Given the description of an element on the screen output the (x, y) to click on. 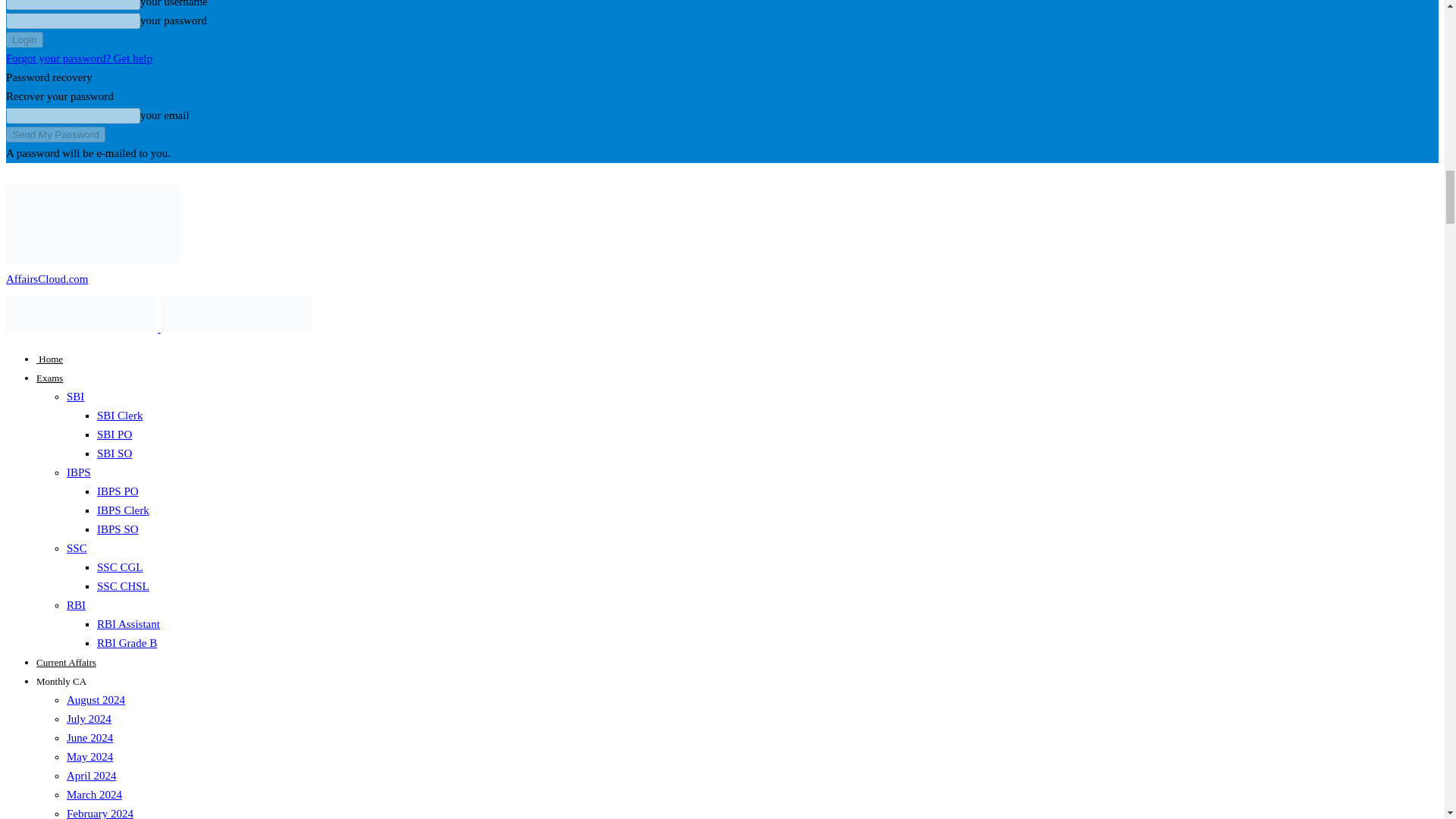
Home (49, 358)
AffairsCloud (92, 223)
Send My Password (54, 134)
Current Affairs (66, 662)
Login (24, 39)
AffairsCloud (81, 313)
AffairsCloud (236, 313)
